Given the description of an element on the screen output the (x, y) to click on. 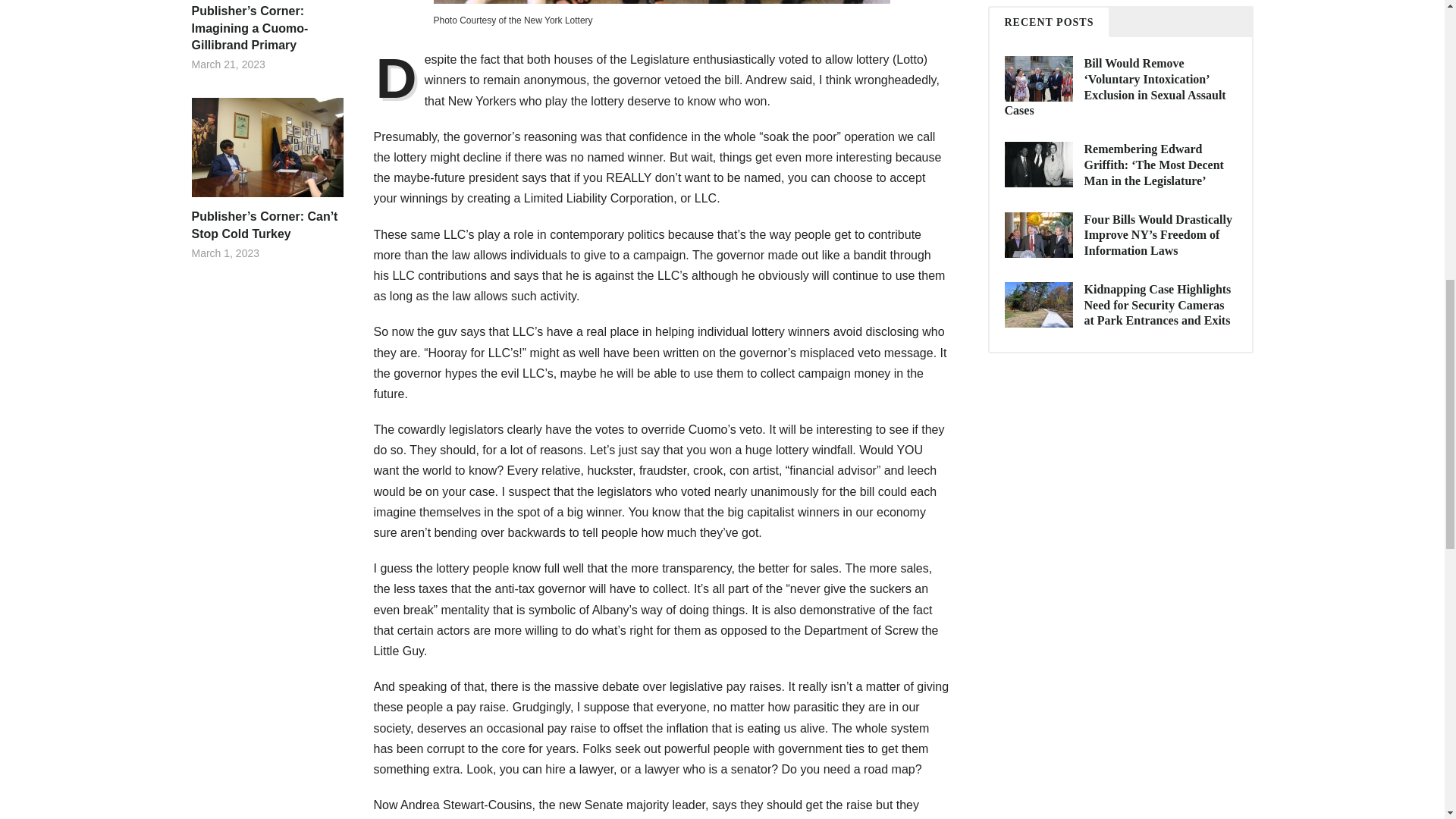
Recent Posts (1048, 21)
